Given the description of an element on the screen output the (x, y) to click on. 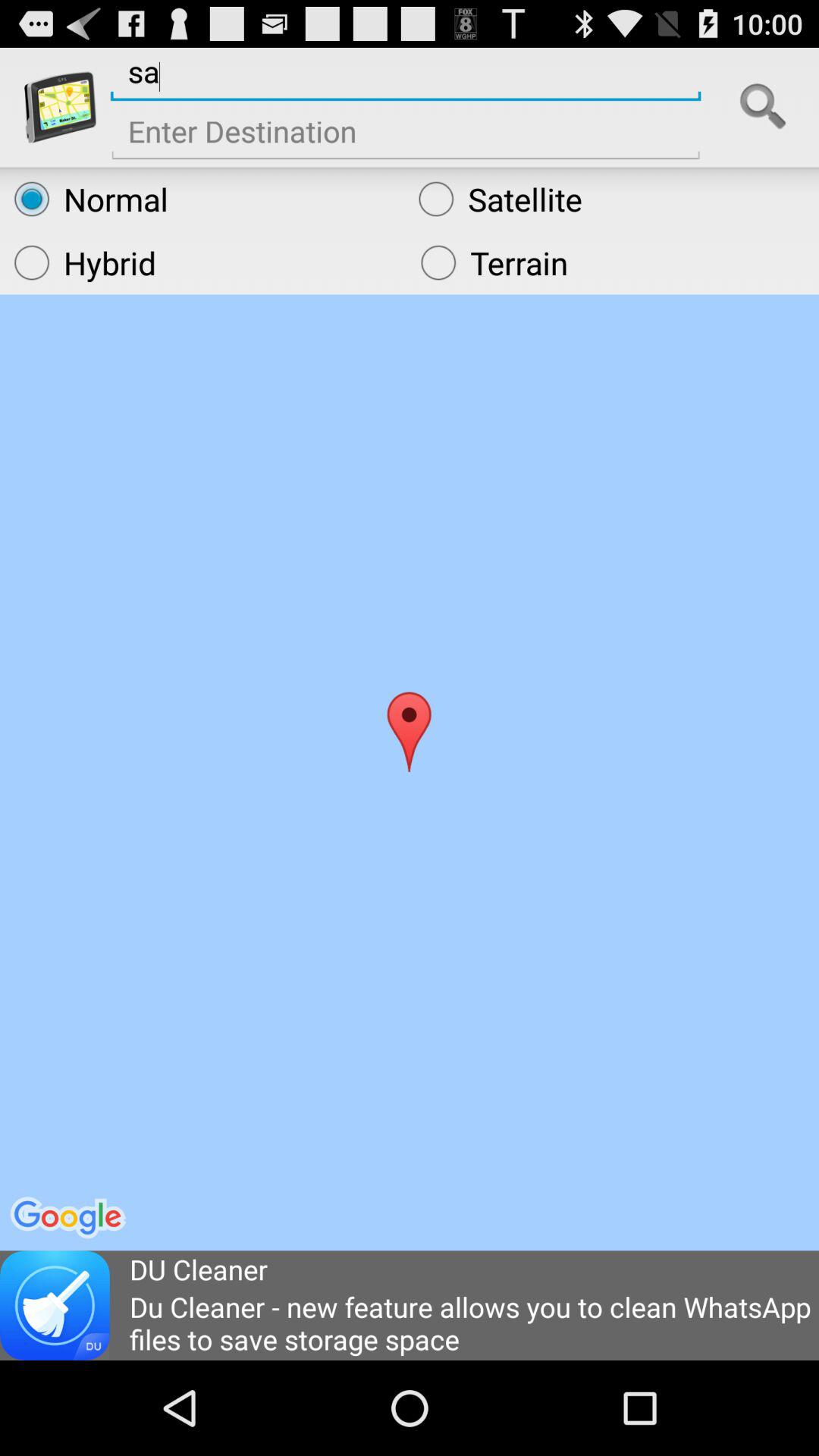
enter destination (405, 137)
